Given the description of an element on the screen output the (x, y) to click on. 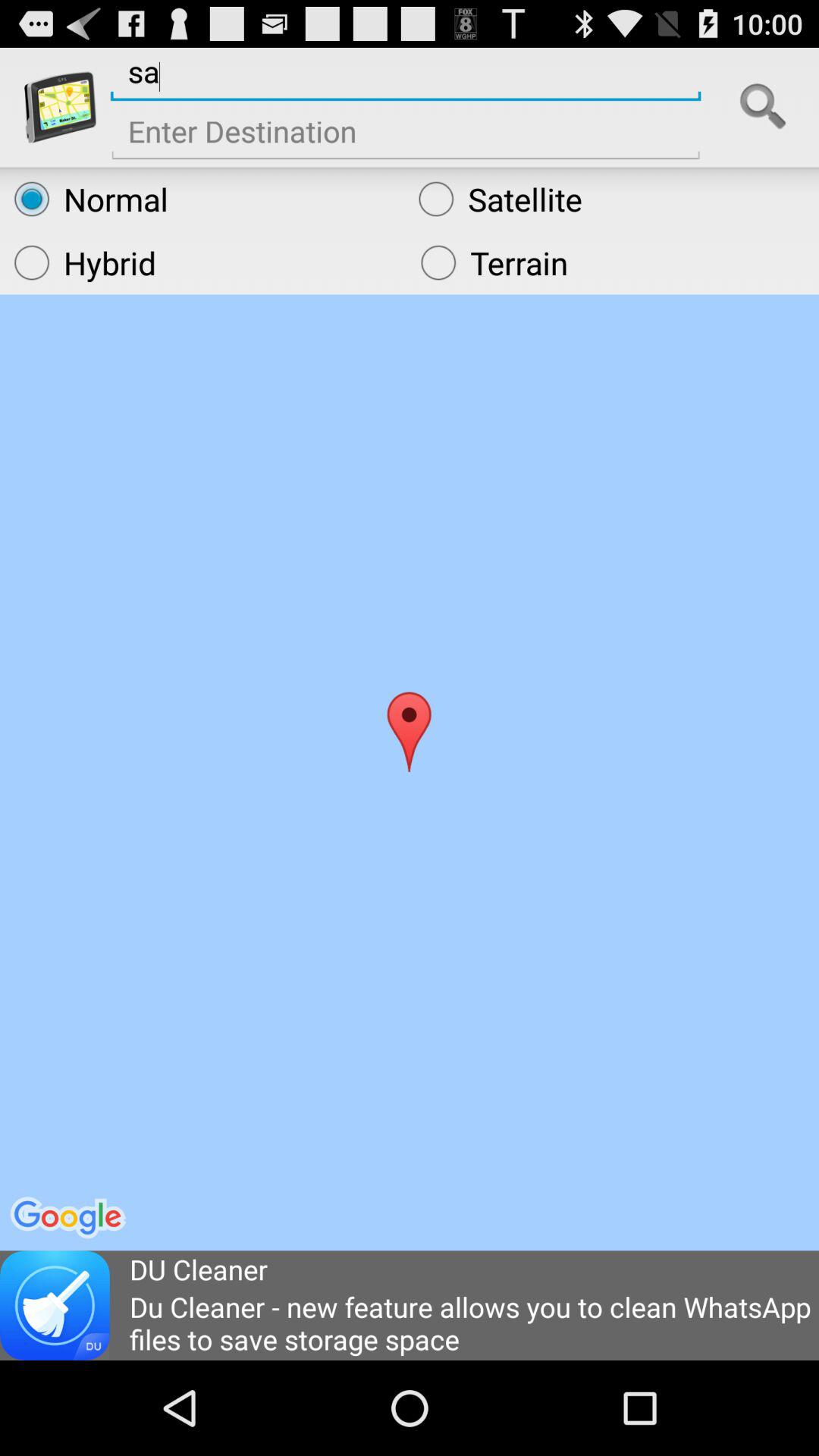
enter destination (405, 137)
